Given the description of an element on the screen output the (x, y) to click on. 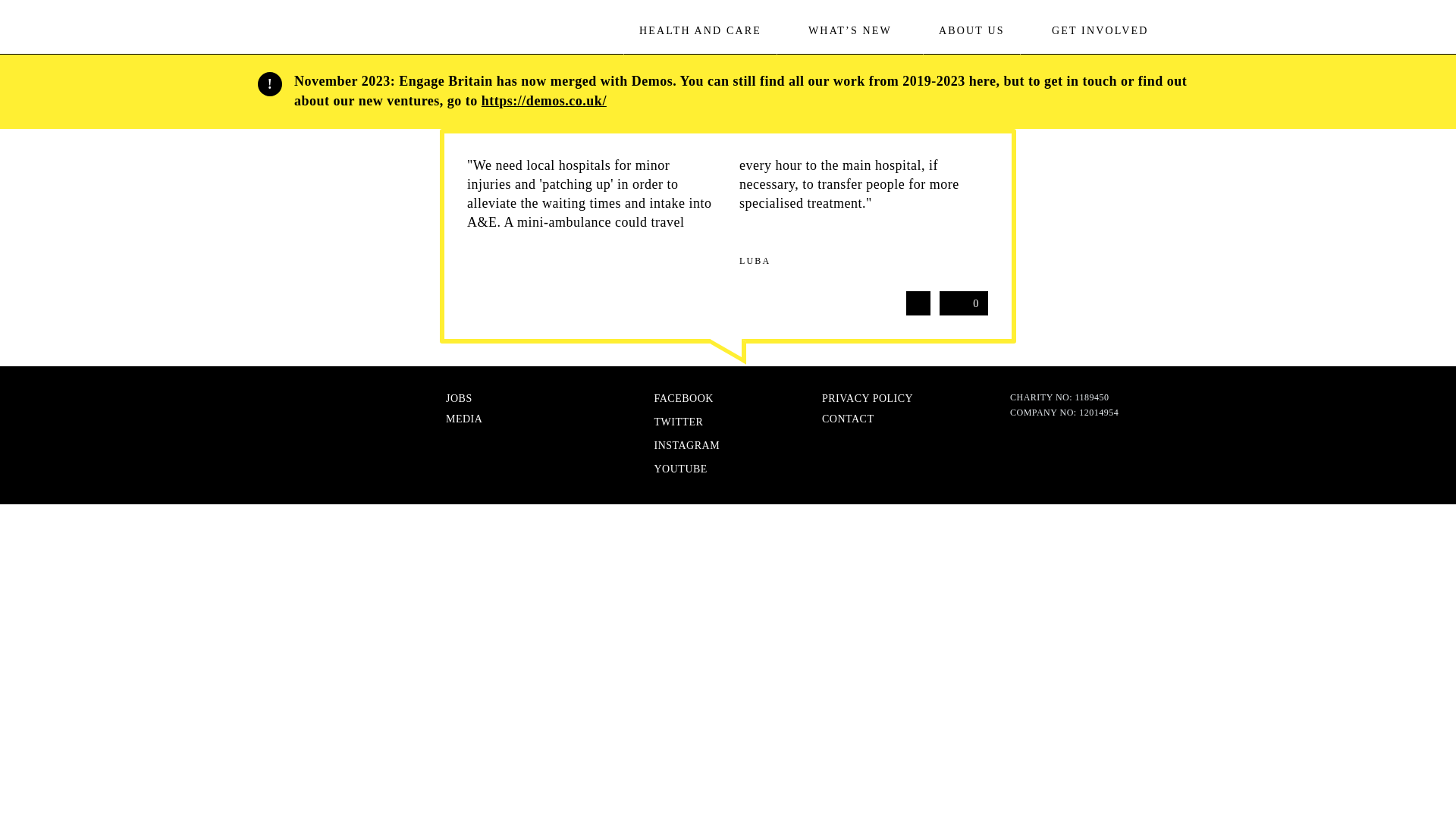
INSTAGRAM (963, 303)
ABOUT US (676, 445)
YOUTUBE (971, 30)
SEARCH (670, 468)
MEDIA (1192, 32)
FACEBOOK (463, 419)
Engage Britain (673, 398)
TWITTER (325, 32)
PRIVACY POLICY (668, 422)
